Given the description of an element on the screen output the (x, y) to click on. 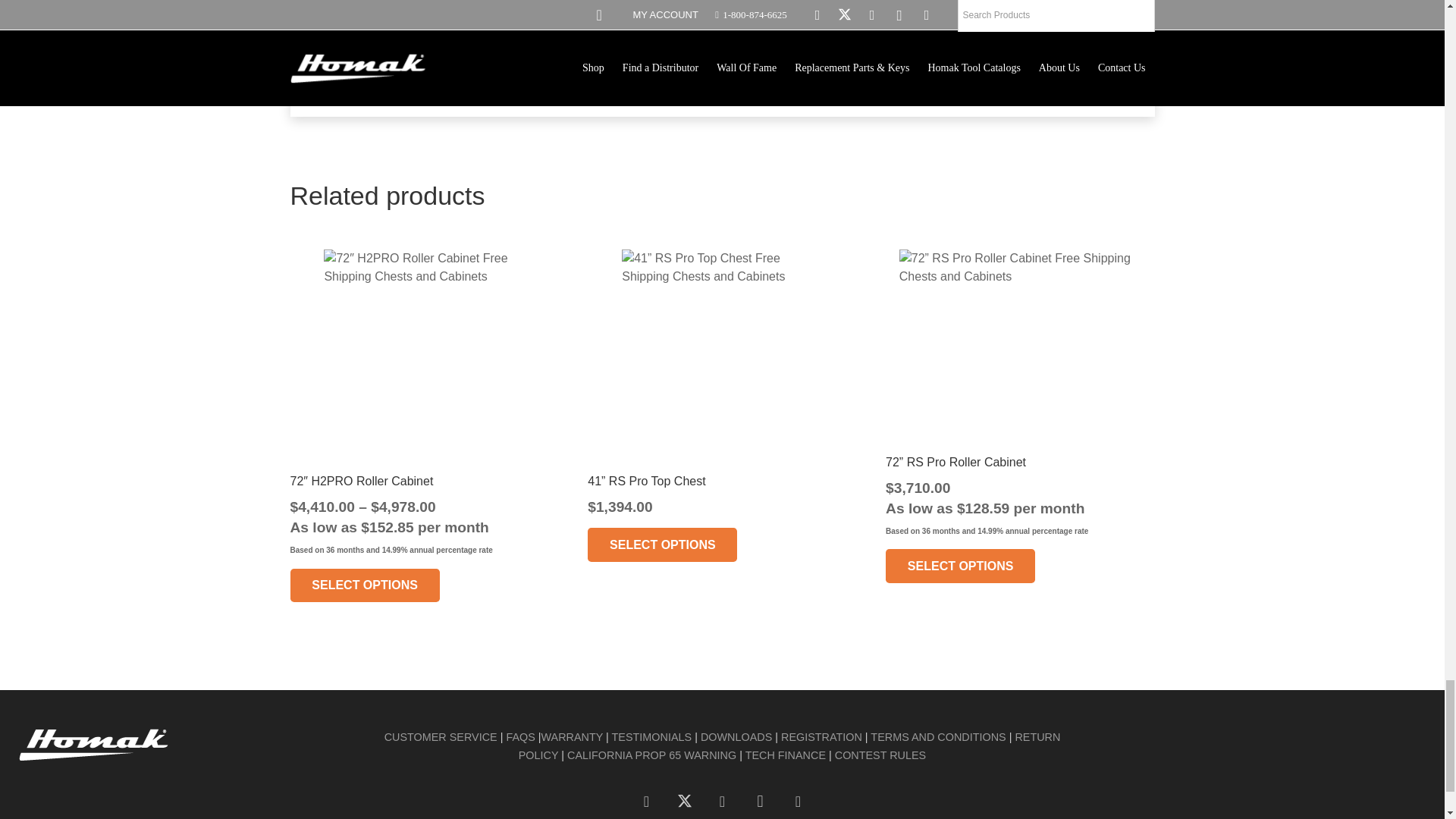
Submit (360, 73)
